Given the description of an element on the screen output the (x, y) to click on. 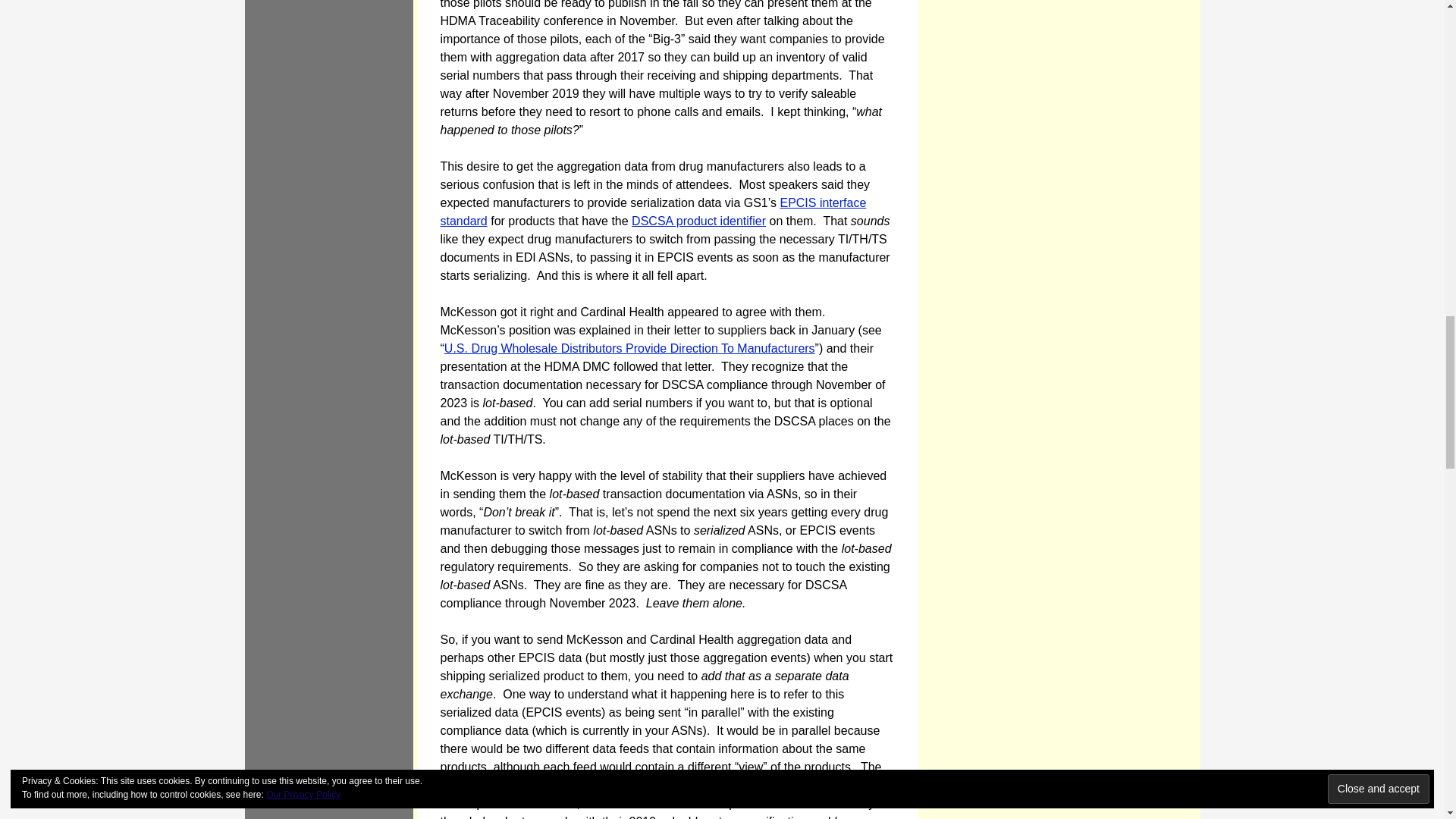
DSCSA product identifier (698, 220)
EPCIS interface standard (652, 211)
